Given the description of an element on the screen output the (x, y) to click on. 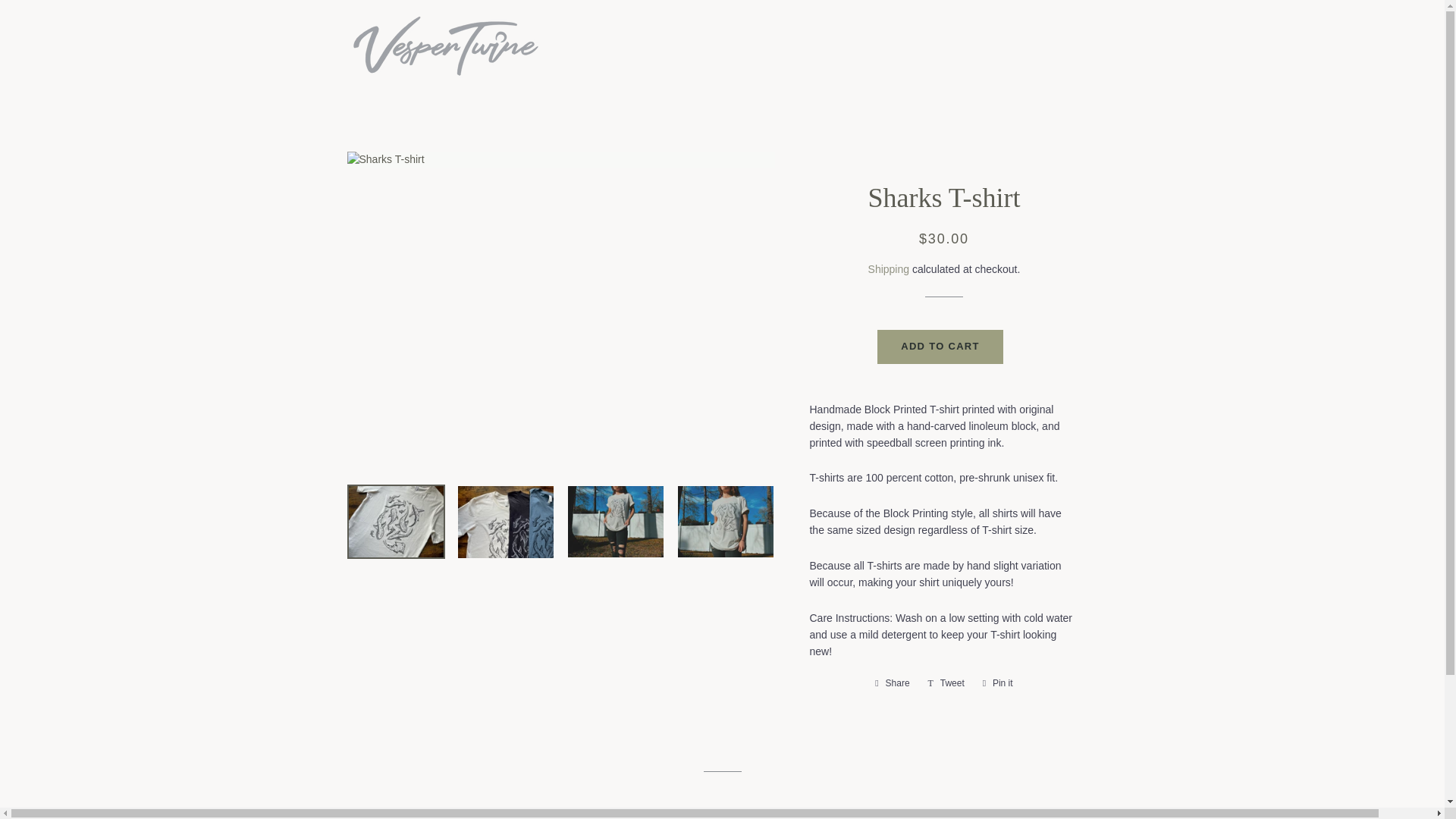
Tweet on Twitter (946, 682)
Pin on Pinterest (997, 682)
Share on Facebook (892, 682)
